Given the description of an element on the screen output the (x, y) to click on. 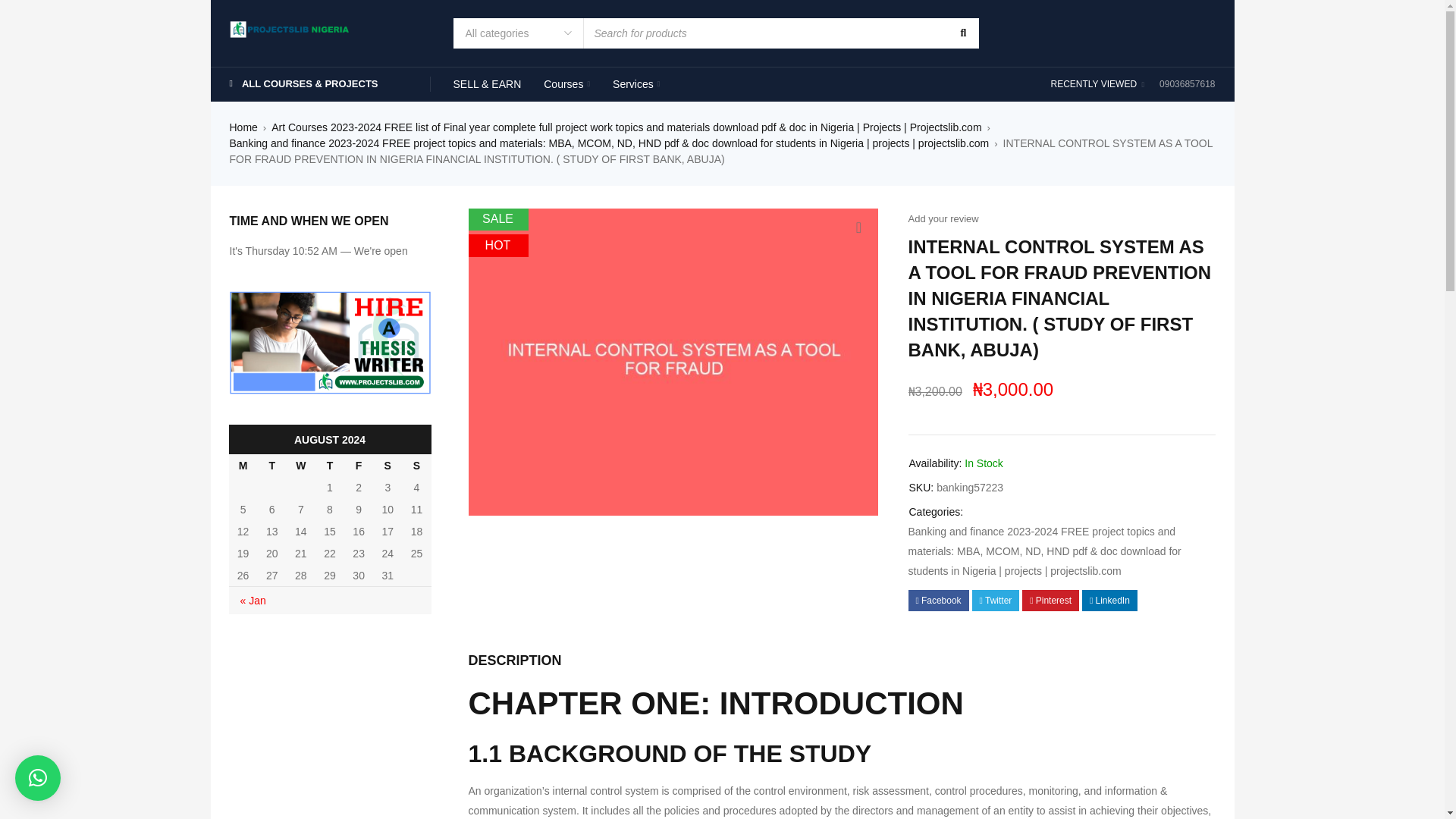
Sunday (415, 464)
PROJECTSLIB (289, 27)
Wednesday (300, 464)
Friday (357, 464)
Monday (242, 464)
Saturday (386, 464)
Tuesday (271, 464)
Search (962, 32)
Search (962, 32)
Thursday (329, 464)
